Given the description of an element on the screen output the (x, y) to click on. 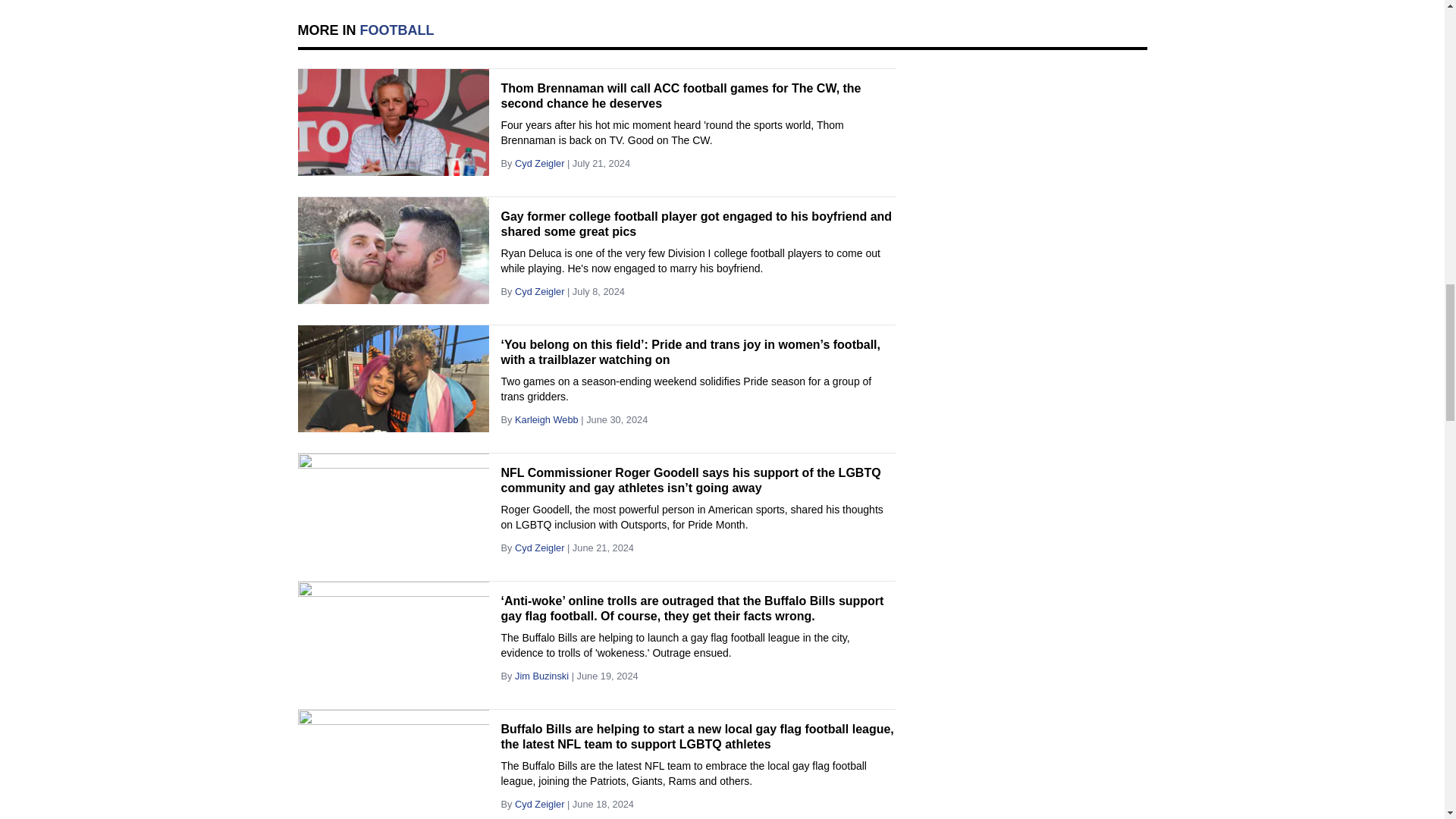
Cyd Zeigler (539, 163)
